Given the description of an element on the screen output the (x, y) to click on. 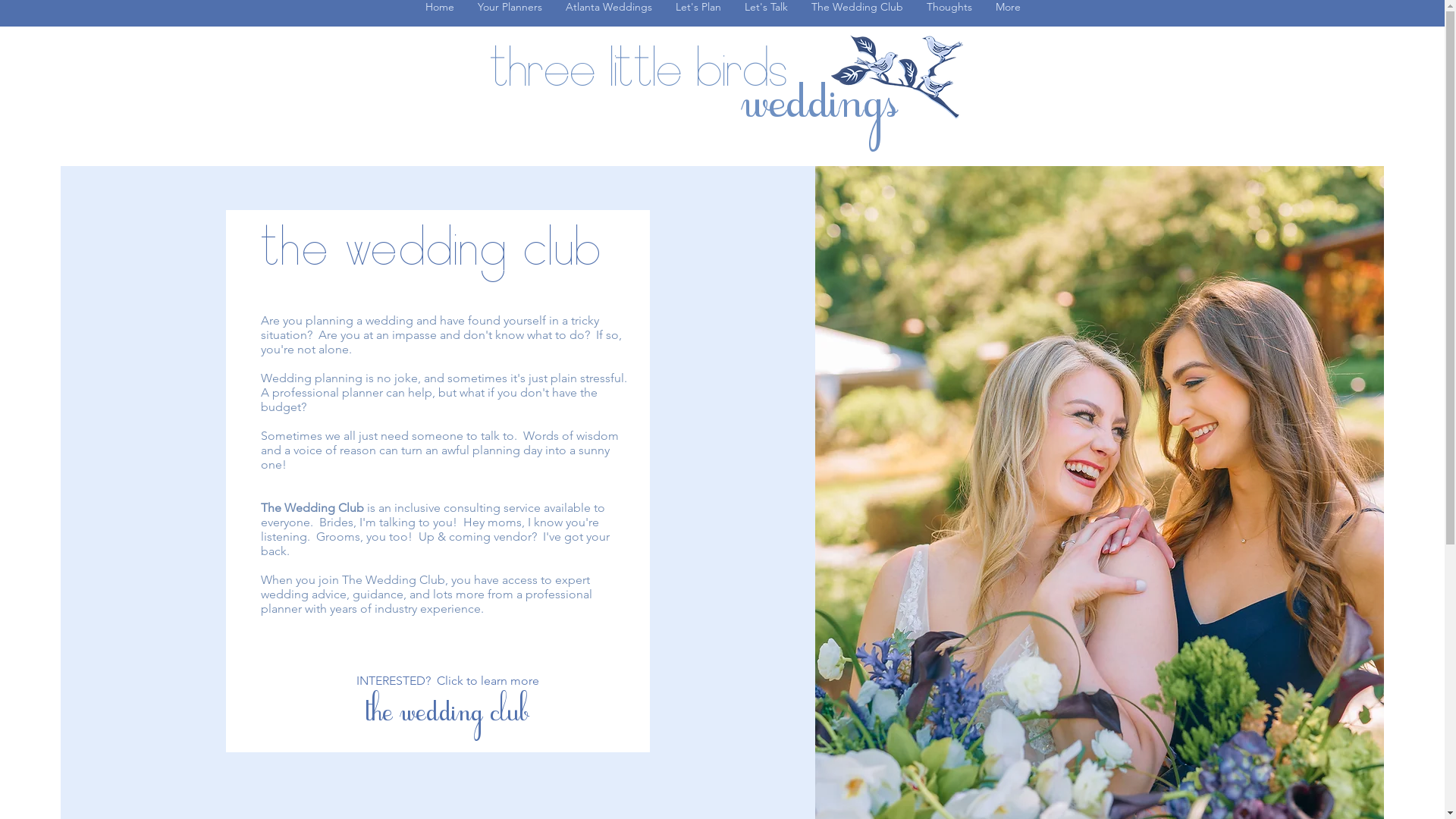
Your Planners Element type: text (509, 13)
Thoughts Element type: text (948, 13)
Atlanta Weddings Element type: text (608, 13)
the wedding club Element type: text (432, 246)
Home Element type: text (438, 13)
Let's Plan Element type: text (696, 13)
The Wedding Club Element type: text (856, 13)
the wedding club Element type: text (447, 712)
Let's Talk Element type: text (765, 13)
